Given the description of an element on the screen output the (x, y) to click on. 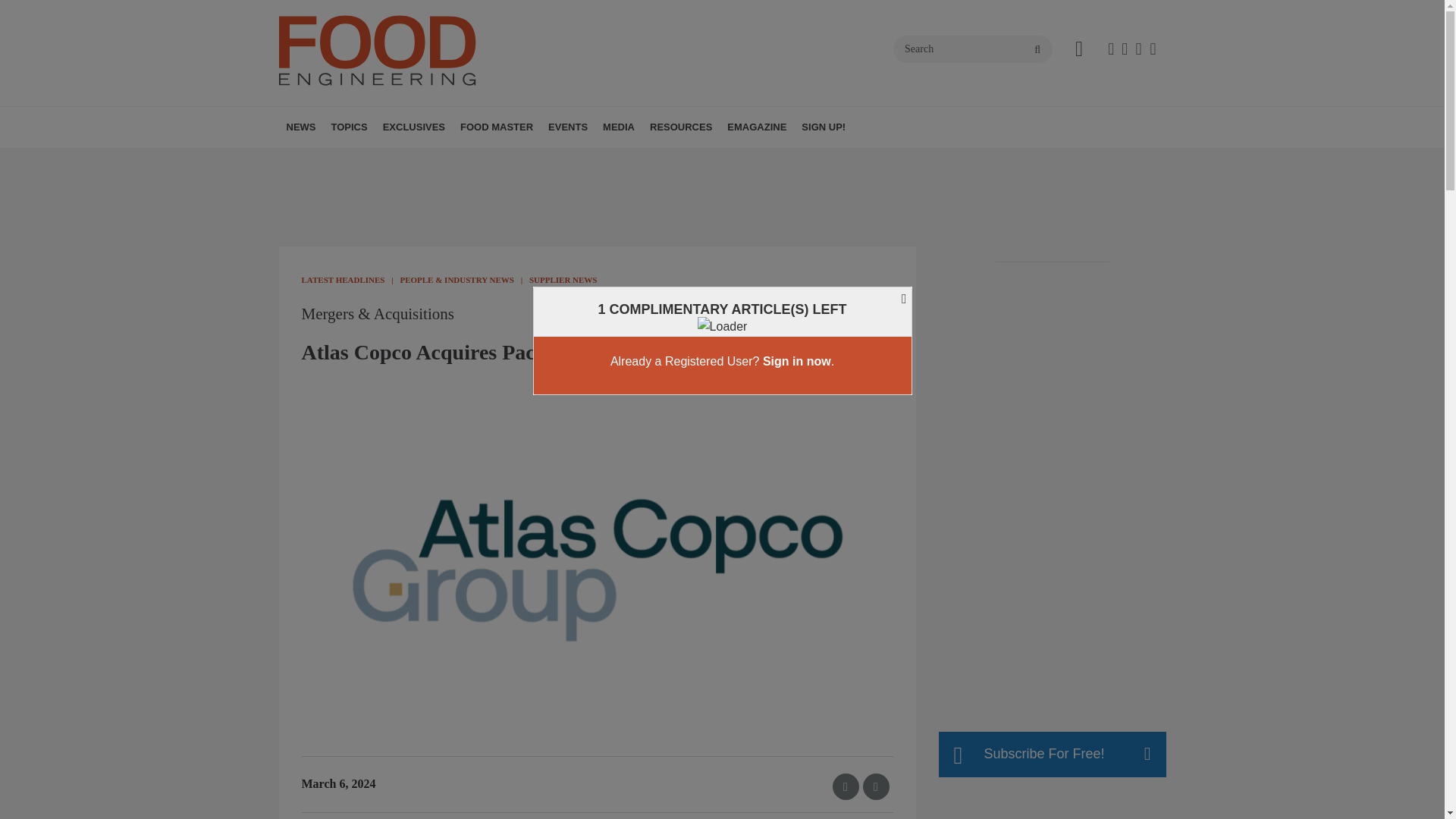
MORE (461, 160)
FOOD SAFETY (445, 160)
TOPICS (348, 127)
NEWS (301, 127)
EXCLUSIVES (413, 127)
AUTOMATION (424, 160)
SUSTAINABLE PLANT OF THE YEAR (483, 169)
SUPPLIER NEWS (407, 160)
OEE (452, 160)
LATEST HEADLINES (373, 160)
PLANT OPENINGS (397, 160)
PLANT OF THE YEAR (476, 160)
FABULOUS FOOD PLANTS (442, 160)
RECALLS (400, 160)
search (1037, 50)
